Given the description of an element on the screen output the (x, y) to click on. 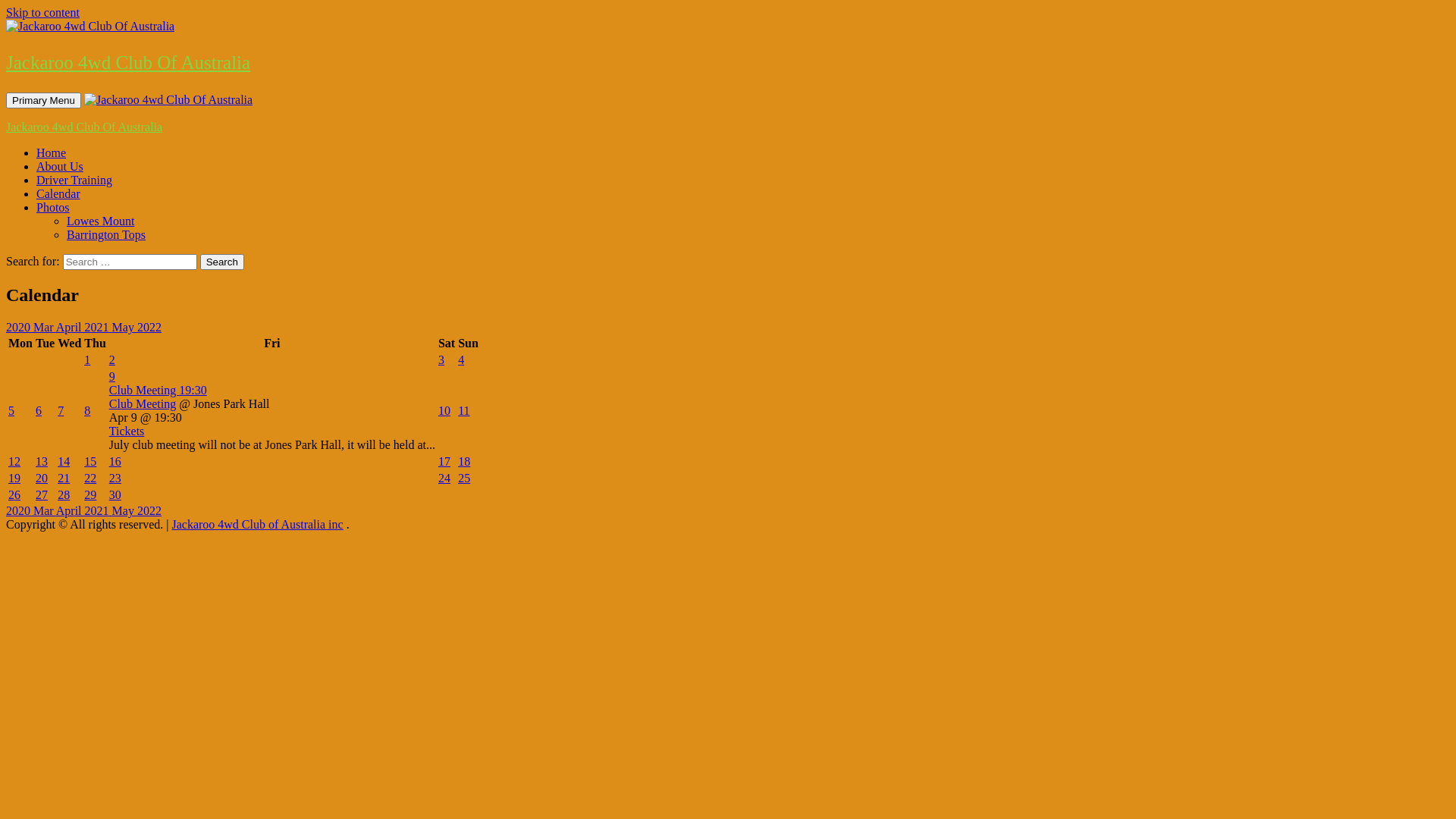
2020 Element type: text (19, 510)
26 Element type: text (14, 494)
Search Element type: text (222, 261)
Driver Training Element type: text (74, 179)
About Us Element type: text (59, 166)
2022 Element type: text (149, 510)
7 Element type: text (60, 410)
19 Element type: text (14, 477)
13 Element type: text (41, 461)
15 Element type: text (90, 461)
8 Element type: text (87, 410)
Barrington Tops Element type: text (105, 234)
Club Meeting 19:30 Element type: text (272, 390)
Club Meeting Element type: text (142, 403)
30 Element type: text (115, 494)
2 Element type: text (112, 359)
27 Element type: text (41, 494)
4 Element type: text (461, 359)
14 Element type: text (63, 461)
23 Element type: text (115, 477)
9 Element type: text (112, 376)
Jackaroo 4wd Club Of Australia Element type: text (84, 126)
Skip to content Element type: text (42, 12)
Tickets Element type: text (126, 430)
17 Element type: text (444, 461)
Mar Element type: text (44, 510)
April 2021 Element type: text (84, 326)
Lowes Mount Element type: text (100, 220)
12 Element type: text (14, 461)
May Element type: text (124, 510)
Jackaroo 4wd Club of Australia inc Element type: text (256, 523)
25 Element type: text (464, 477)
Photos Element type: text (52, 206)
28 Element type: text (63, 494)
5 Element type: text (11, 410)
18 Element type: text (464, 461)
Primary Menu Element type: text (43, 100)
Mar Element type: text (44, 326)
Jackaroo 4wd Club Of Australia Element type: text (128, 62)
April 2021 Element type: text (84, 510)
16 Element type: text (115, 461)
Calendar Element type: text (58, 193)
2022 Element type: text (149, 326)
2020 Element type: text (19, 326)
6 Element type: text (38, 410)
1 Element type: text (87, 359)
Home Element type: text (50, 152)
24 Element type: text (444, 477)
22 Element type: text (90, 477)
11 Element type: text (463, 410)
10 Element type: text (444, 410)
29 Element type: text (90, 494)
21 Element type: text (63, 477)
3 Element type: text (441, 359)
May Element type: text (124, 326)
20 Element type: text (41, 477)
